Given the description of an element on the screen output the (x, y) to click on. 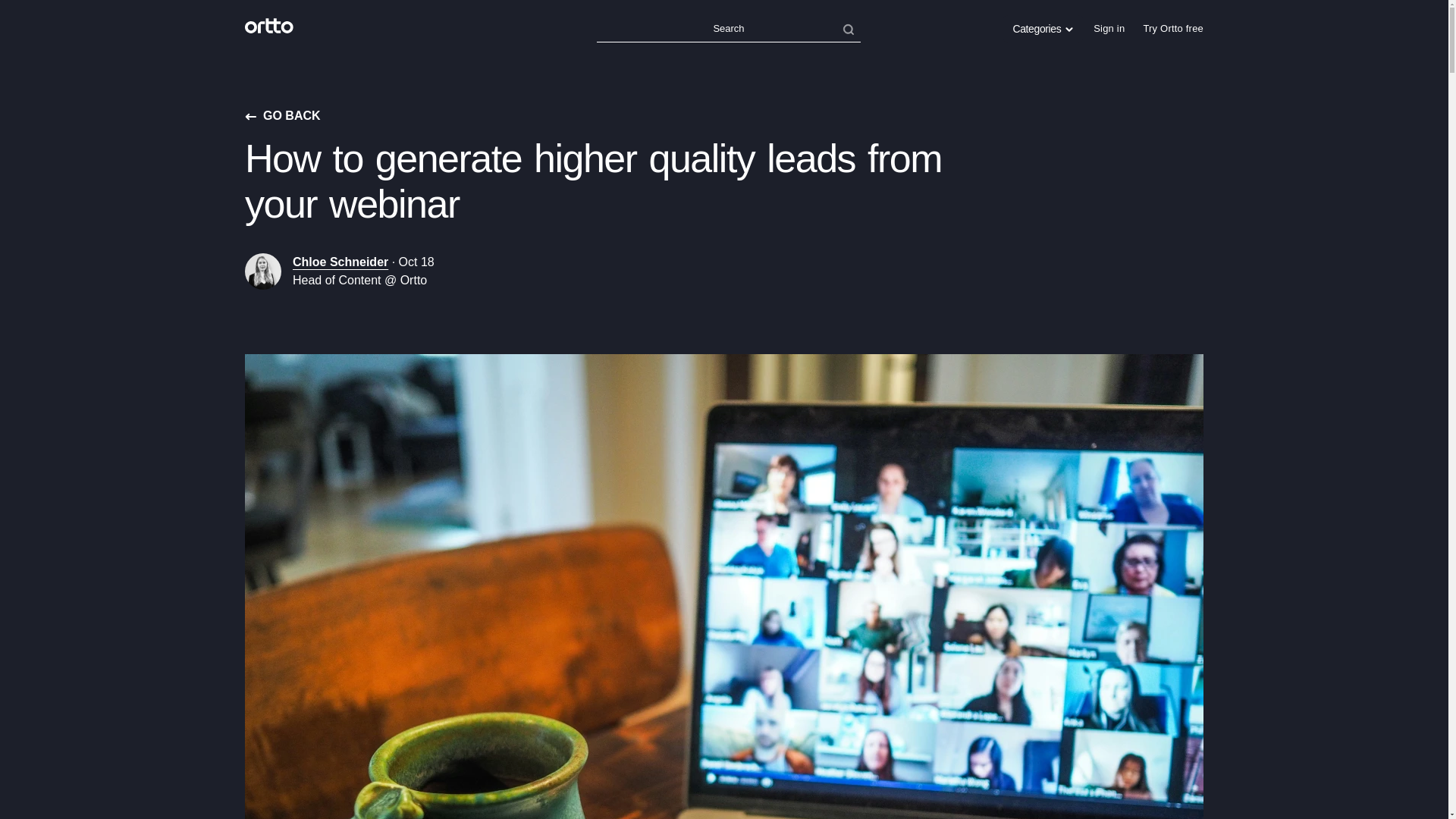
Chloe Schneider (340, 262)
Categories (1043, 28)
Try Ortto free (1173, 28)
Sign in (1108, 28)
GO BACK (282, 116)
Search (728, 28)
